Given the description of an element on the screen output the (x, y) to click on. 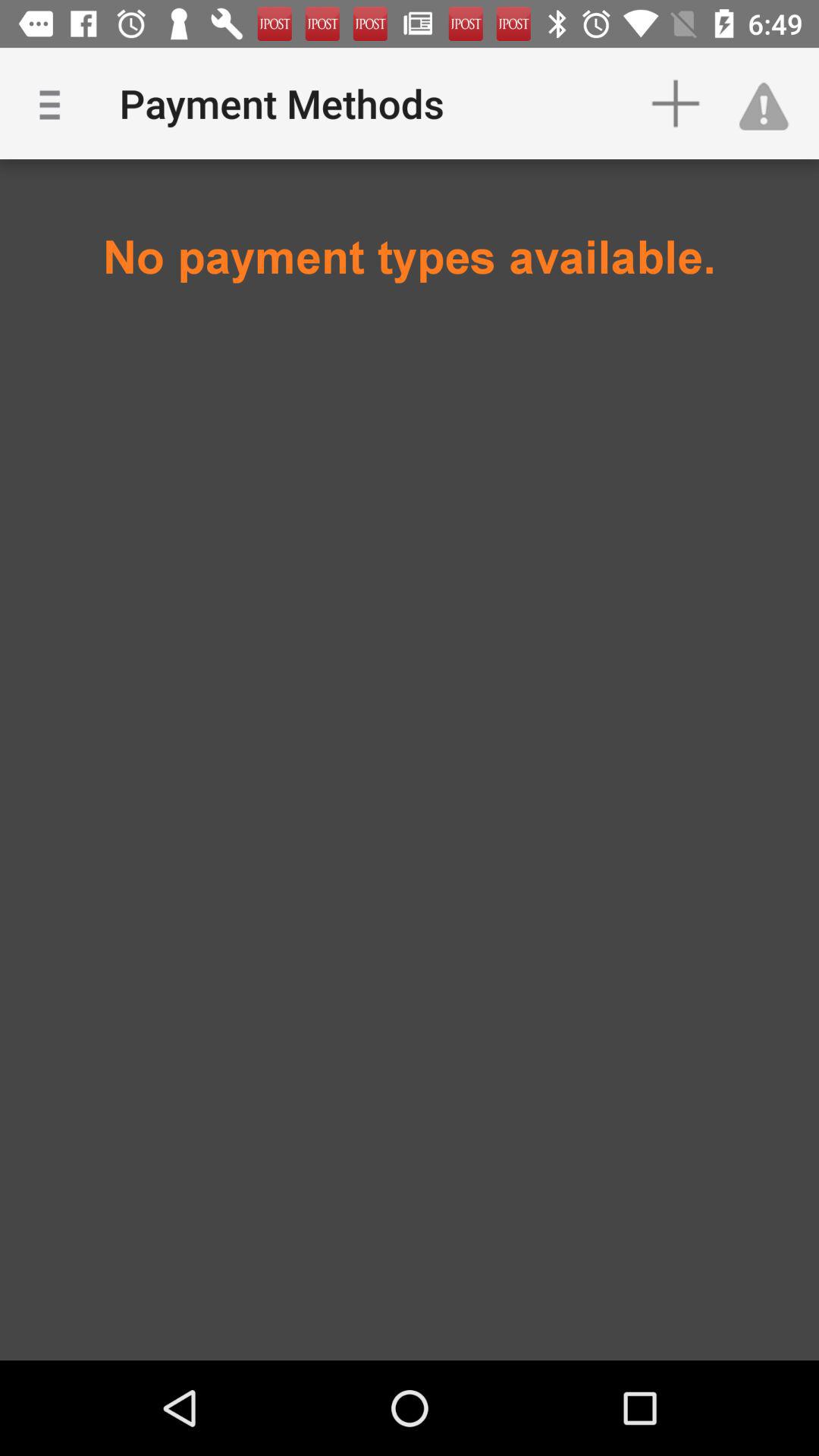
launch the item to the left of the payment methods icon (55, 103)
